Given the description of an element on the screen output the (x, y) to click on. 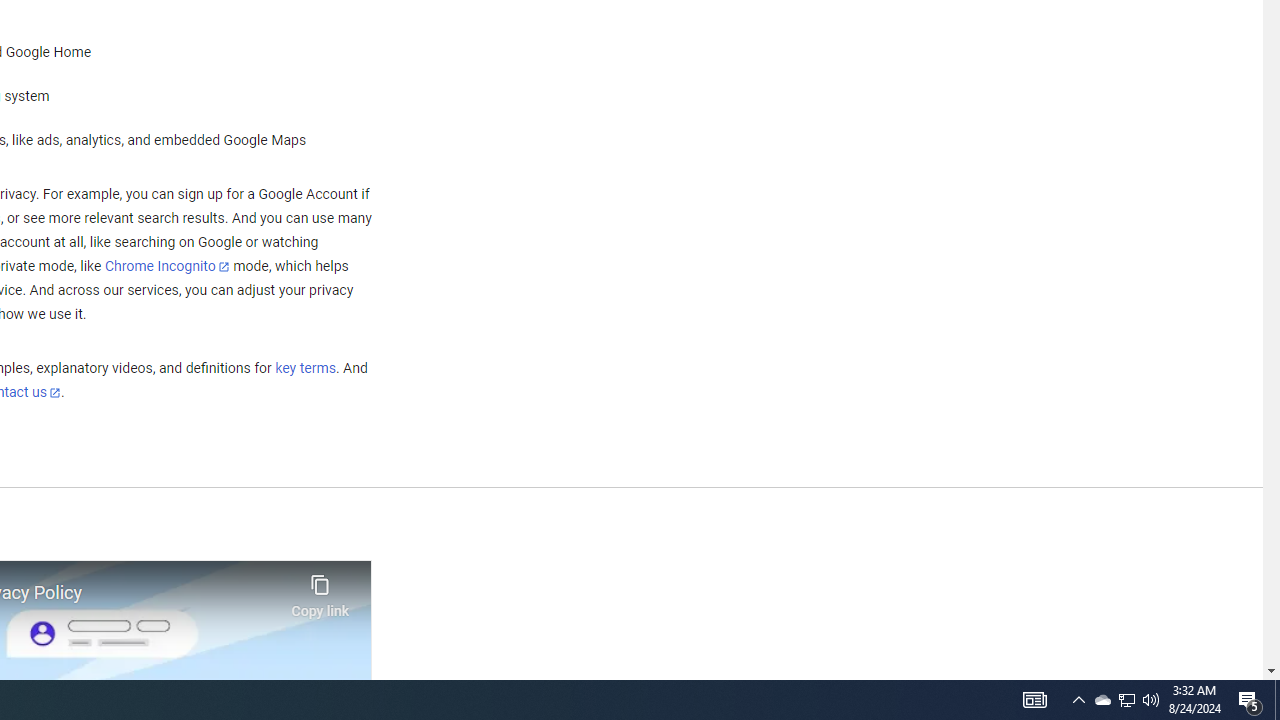
Chrome Incognito (166, 266)
key terms (305, 369)
Copy link (319, 591)
